Given the description of an element on the screen output the (x, y) to click on. 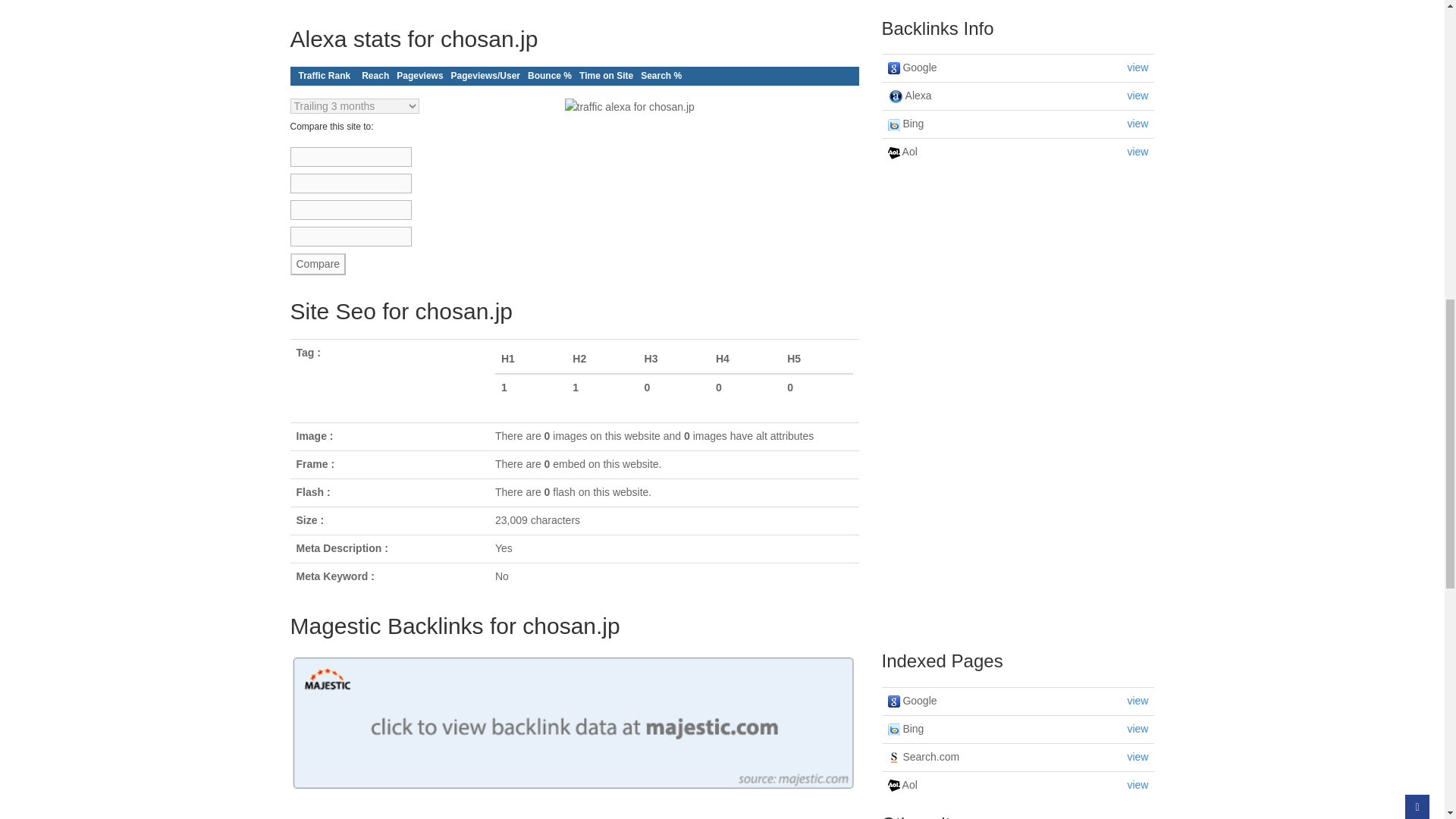
Pageviews (419, 76)
Time on Site (606, 76)
Compare (317, 263)
view (1137, 67)
Advertisement (1017, 408)
Traffic Rank (324, 76)
view (1137, 95)
Reach (375, 76)
